Given the description of an element on the screen output the (x, y) to click on. 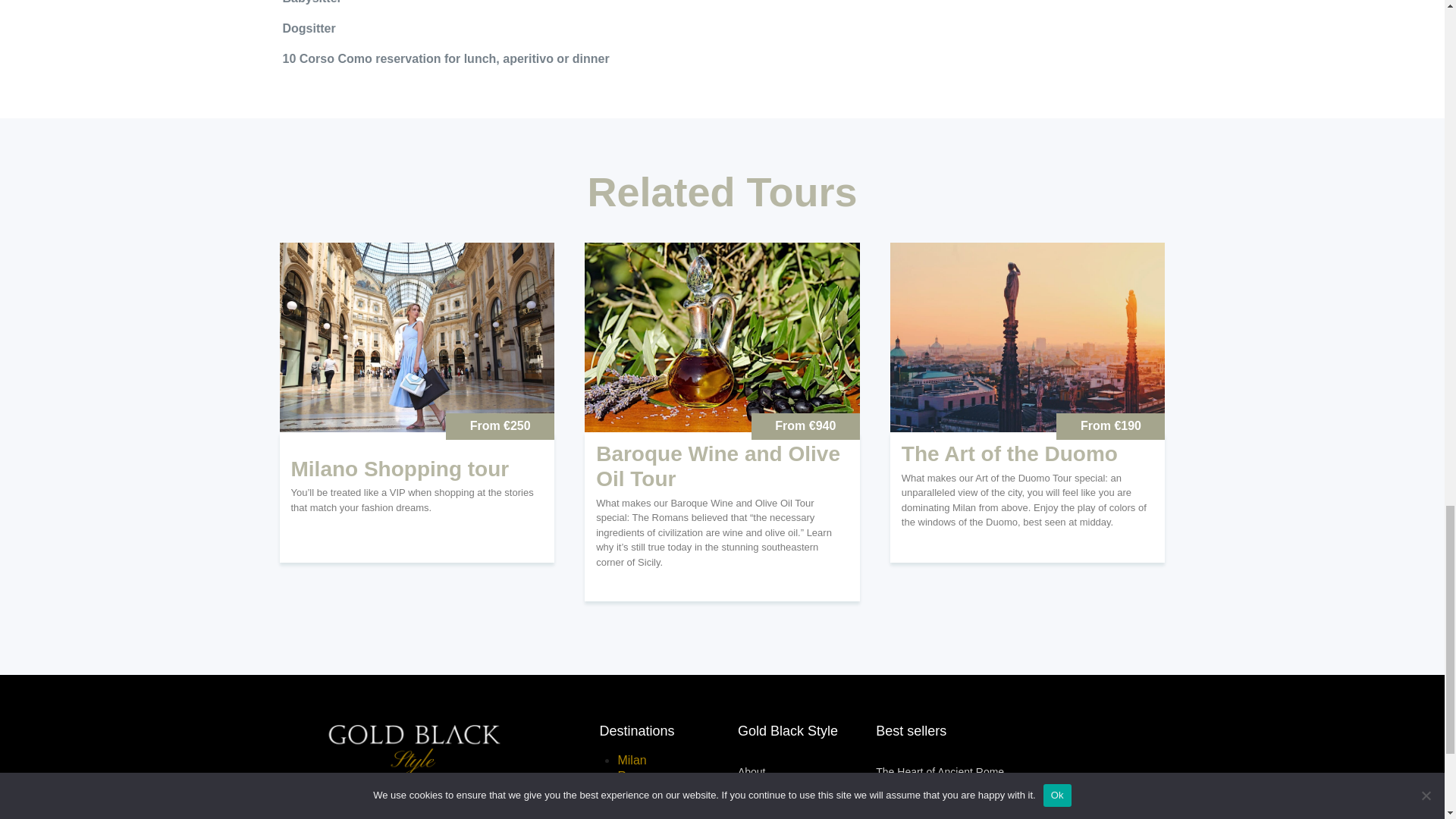
The Art of the Duomo (1009, 453)
Milano Shopping tour (400, 469)
Contacts (807, 807)
Baroque Wine and Olive Oil Tour (721, 466)
Milano Past and Future (930, 794)
Services (807, 789)
Milan (631, 759)
Rome (633, 775)
The Heart of Ancient Rome (940, 771)
Amalfi Coast (651, 807)
